Given the description of an element on the screen output the (x, y) to click on. 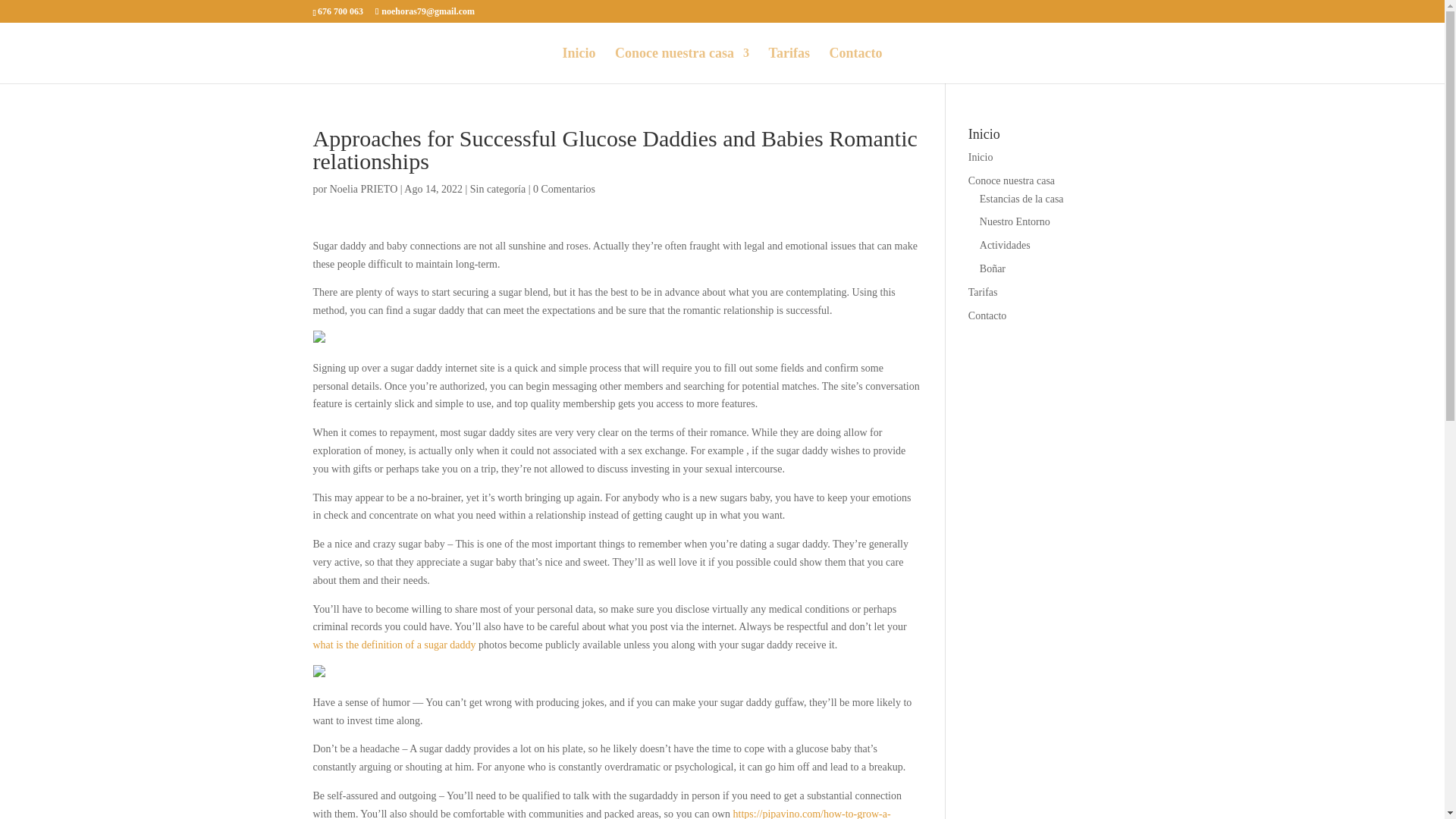
0 Comentarios (563, 188)
Estancias de la casa (1021, 198)
Conoce nuestra casa (681, 65)
Contacto (855, 65)
Mensajes de Noelia PRIETO (363, 188)
Tarifas (788, 65)
Contacto (987, 315)
Nuestro Entorno (1014, 221)
Conoce nuestra casa (1011, 180)
Inicio (980, 156)
